Given the description of an element on the screen output the (x, y) to click on. 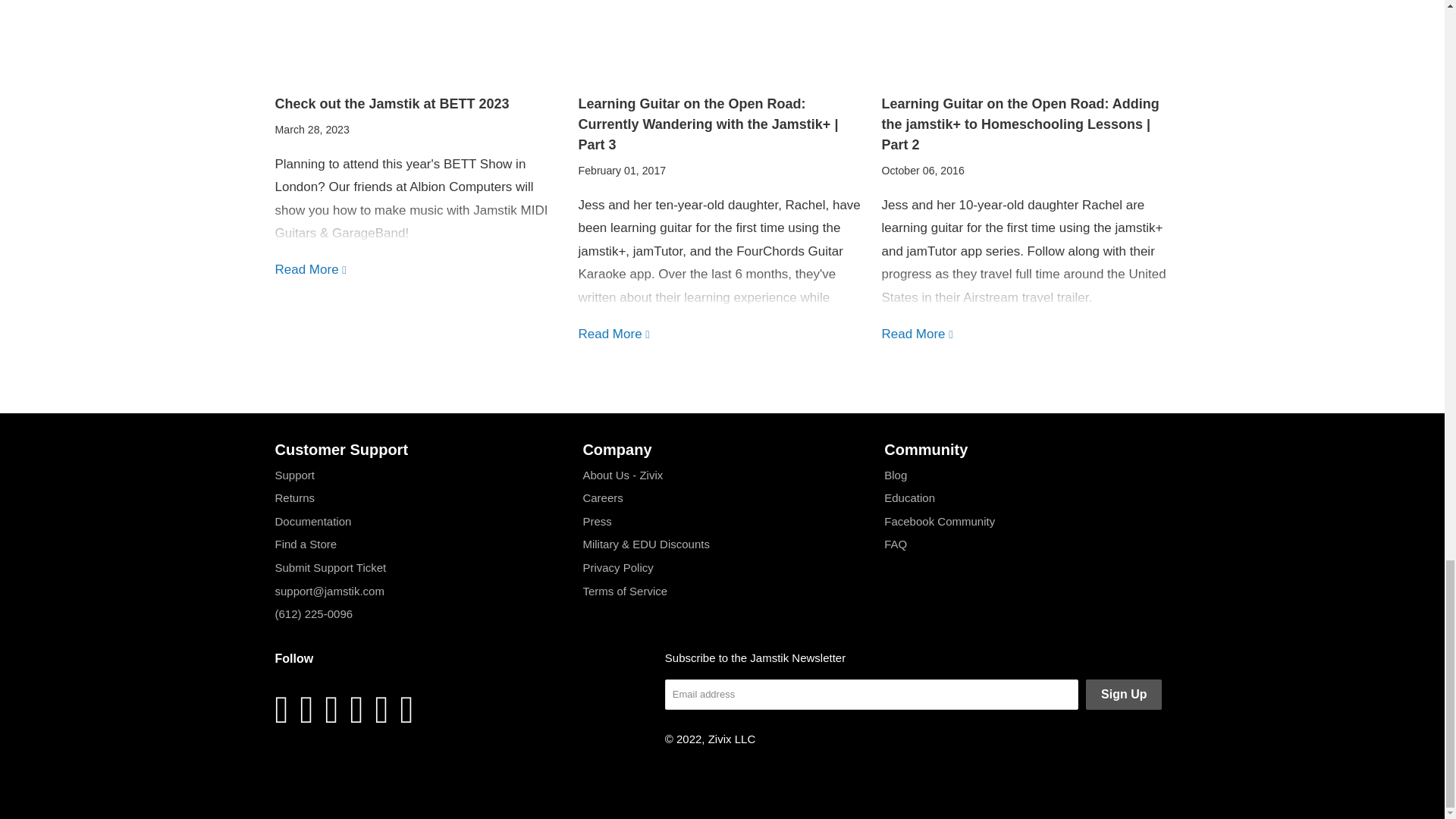
Read More (311, 269)
Check out the Jamstik at BETT 2023 (418, 45)
Check out the Jamstik at BETT 2023 (391, 103)
Check out the Jamstik at BETT 2023 (391, 103)
Sign Up (1123, 694)
Check out the Jamstik at BETT 2023 (311, 269)
